Given the description of an element on the screen output the (x, y) to click on. 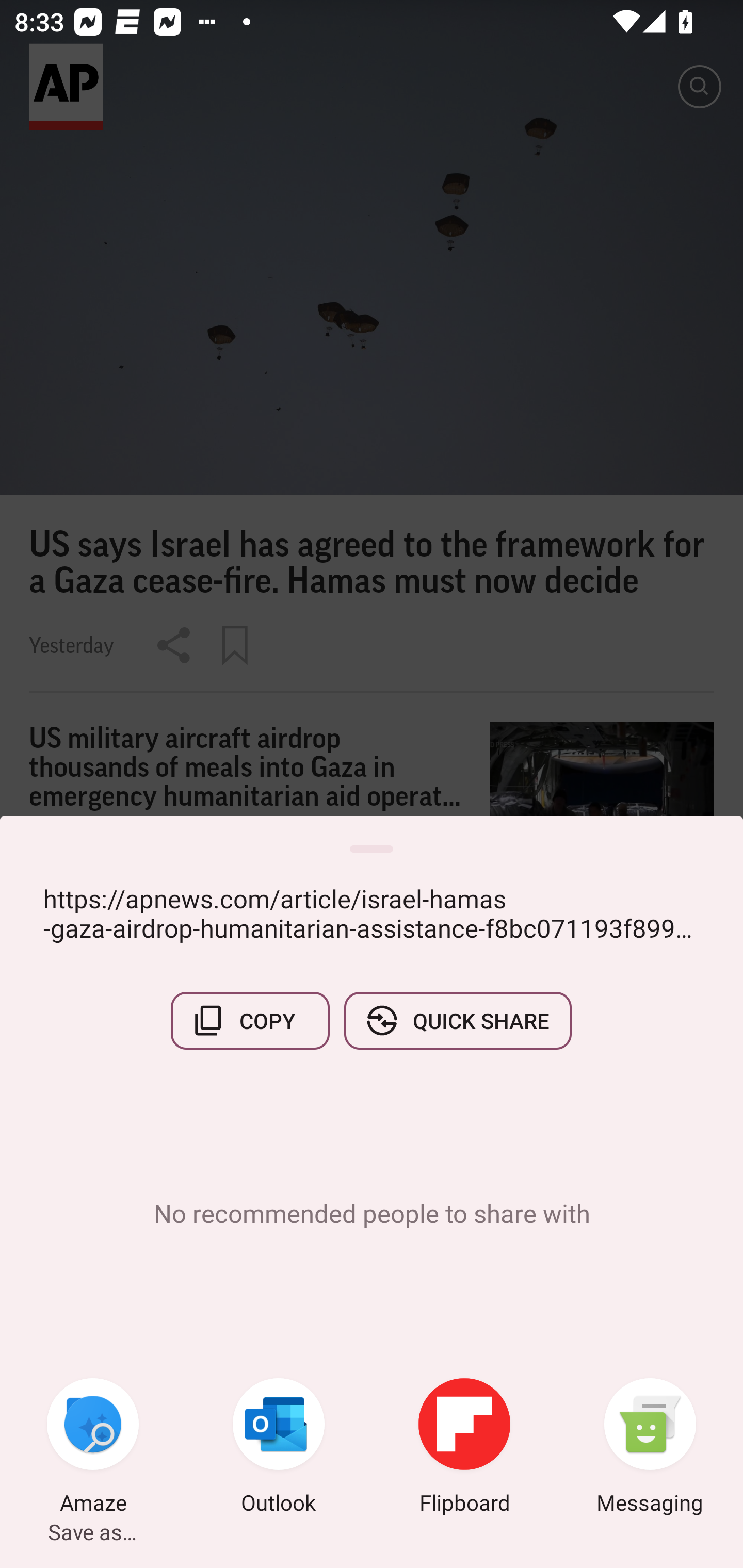
COPY (249, 1020)
QUICK SHARE (457, 1020)
Amaze Save as… (92, 1448)
Outlook (278, 1448)
Flipboard (464, 1448)
Messaging (650, 1448)
